Given the description of an element on the screen output the (x, y) to click on. 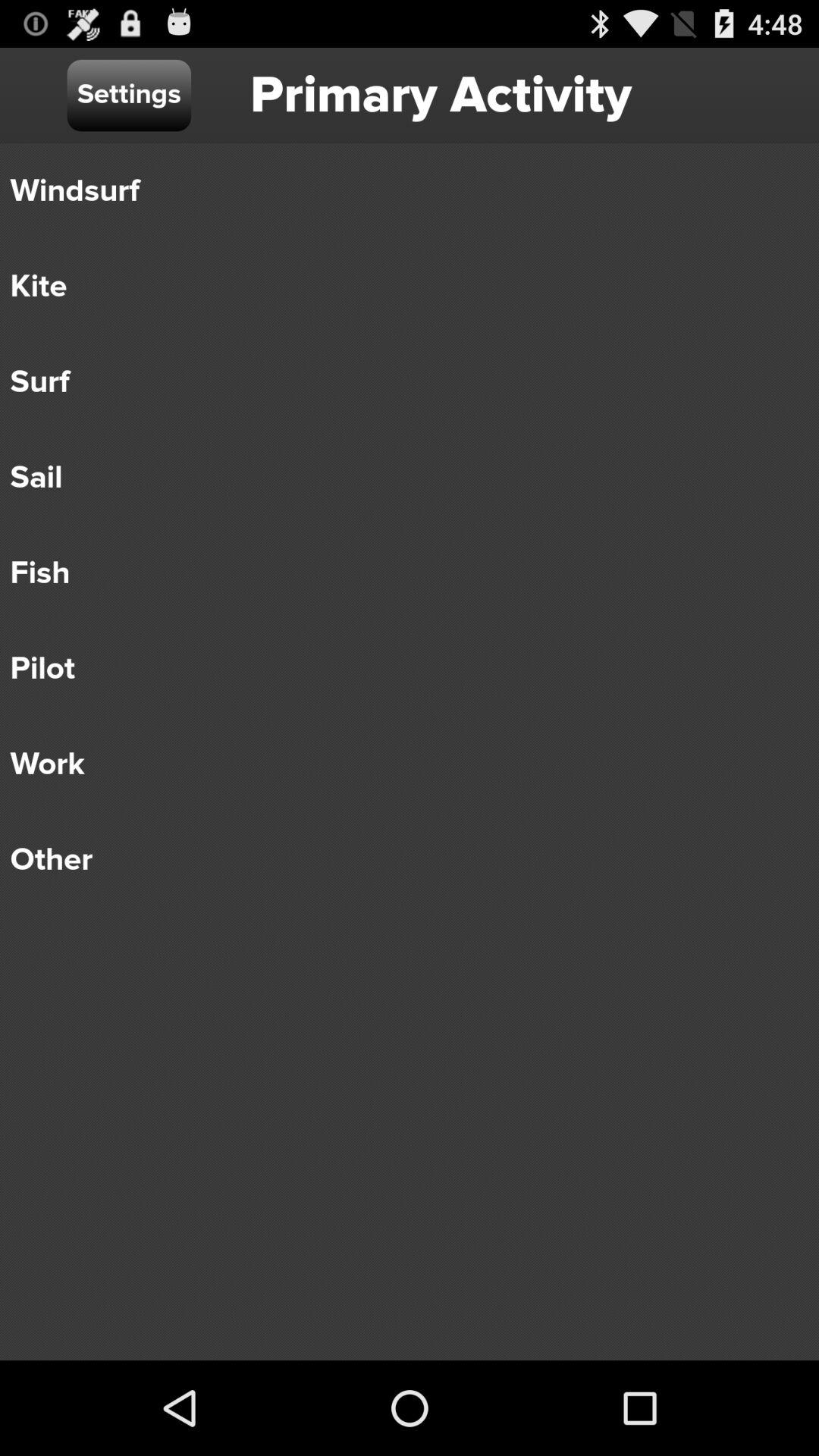
choose the fish icon (399, 572)
